Given the description of an element on the screen output the (x, y) to click on. 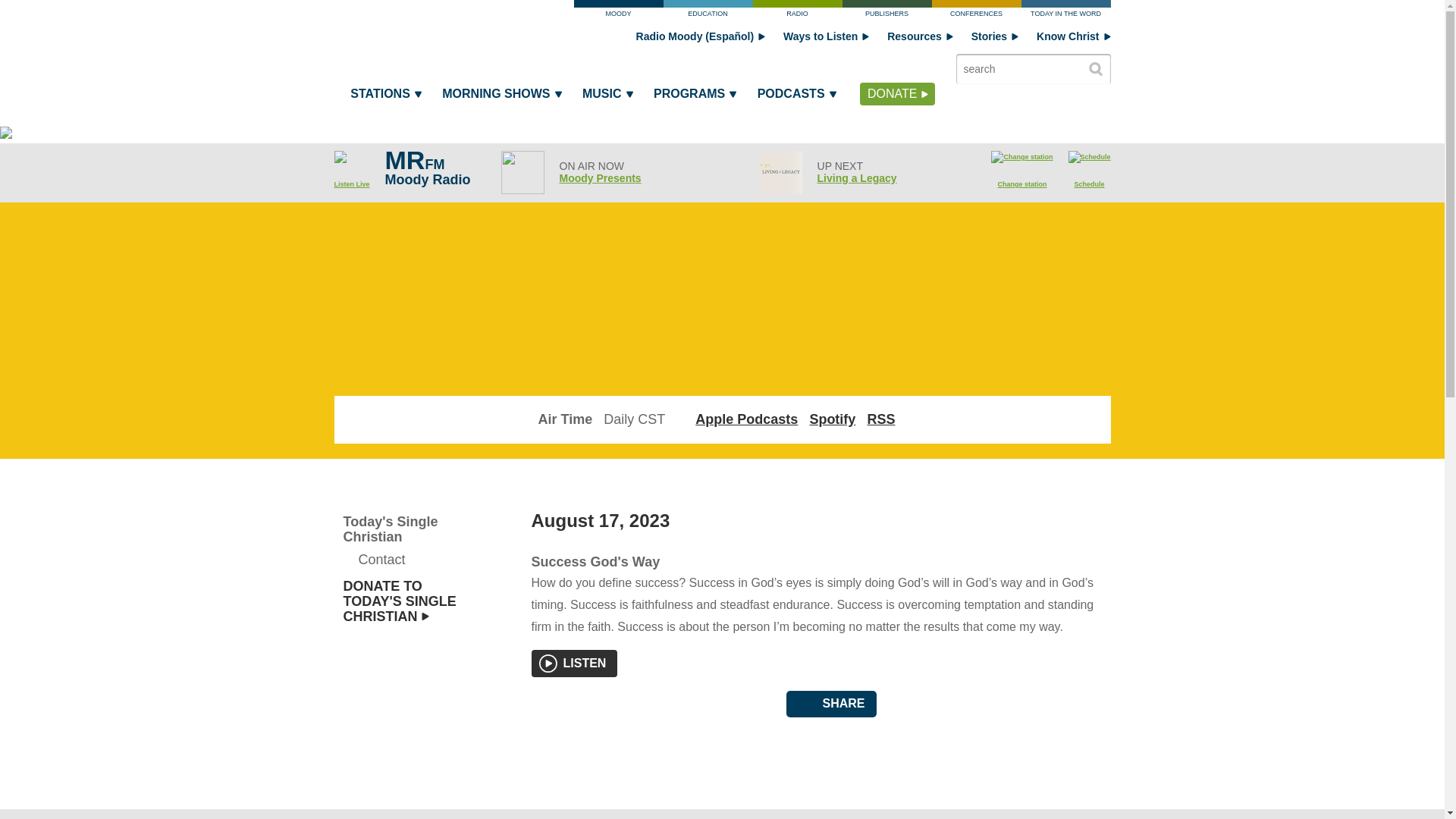
MORNING SHOWS (500, 97)
Stories (994, 36)
STATIONS (384, 97)
Know Christ (1072, 36)
Contact (403, 558)
CONFERENCES (975, 11)
Living a Legacy (856, 177)
RADIO (796, 11)
PUBLISHERS (886, 11)
PROGRAMS (693, 97)
Resources (919, 36)
EDUCATION (707, 11)
Apple Podcasts (746, 419)
Moody Presents (600, 177)
MOODY (617, 11)
